Given the description of an element on the screen output the (x, y) to click on. 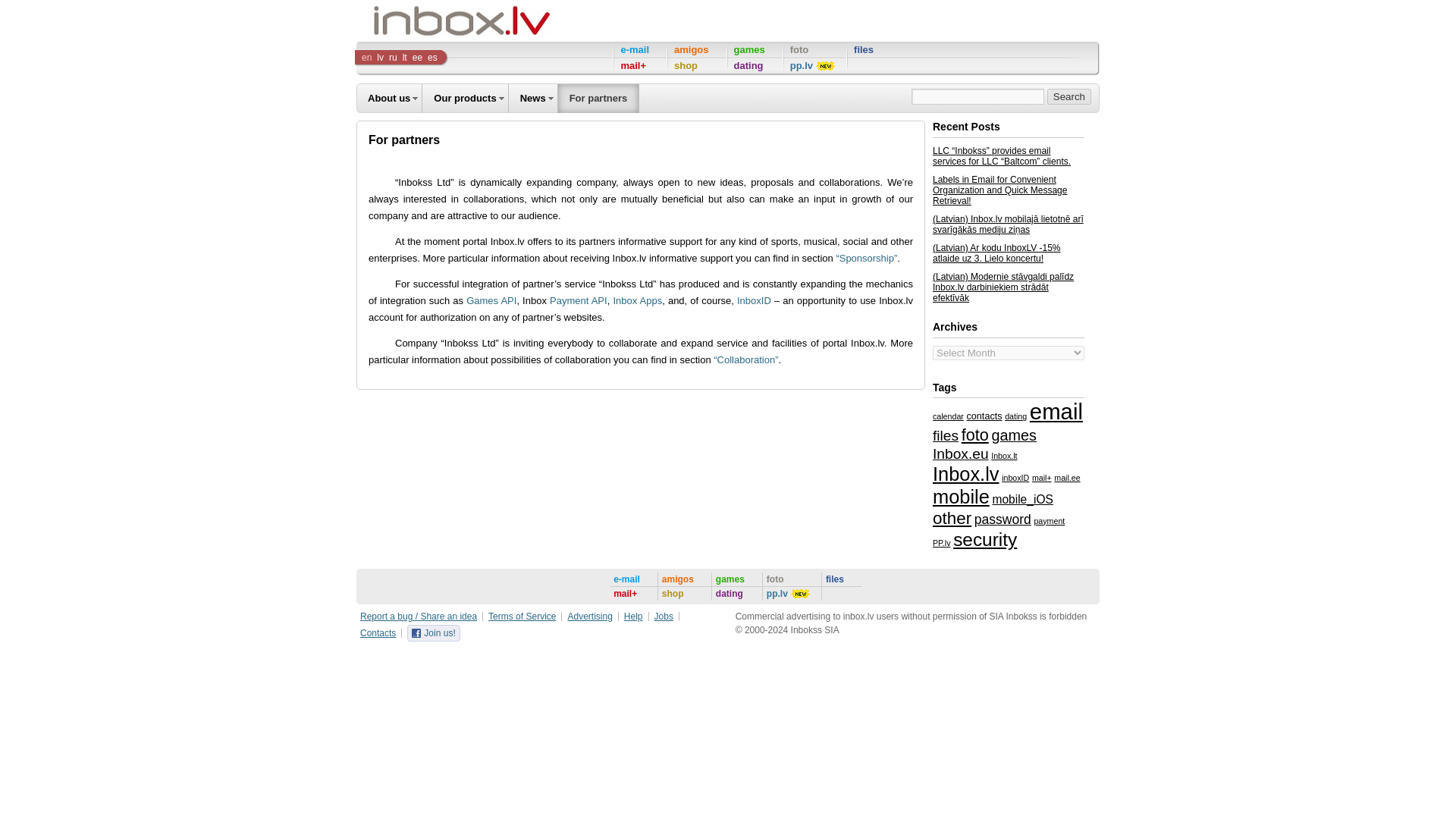
Inbox Company (427, 20)
Games API (490, 300)
games (755, 49)
For partners (598, 98)
Eesti (417, 57)
Search (1068, 96)
foto (814, 49)
Search (1068, 96)
shop (697, 65)
en (366, 57)
ru (392, 57)
e-mail (640, 49)
dating (755, 65)
Go to Inbox Mail site (640, 49)
ee (417, 57)
